Given the description of an element on the screen output the (x, y) to click on. 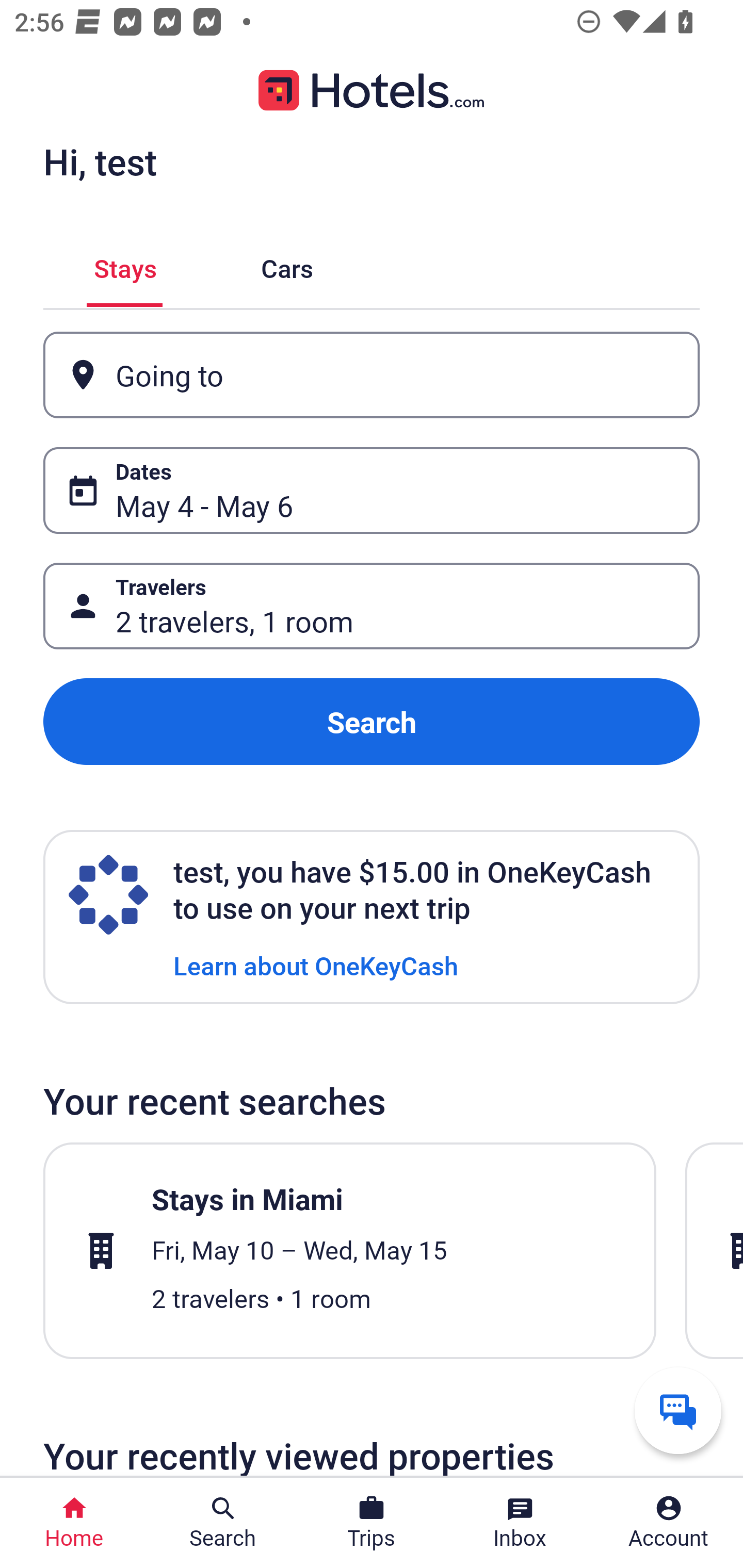
Hi, test (99, 161)
Cars (286, 265)
Going to Button (371, 375)
Dates Button May 4 - May 6 (371, 489)
Travelers Button 2 travelers, 1 room (371, 605)
Search (371, 721)
Learn about OneKeyCash Learn about OneKeyCash Link (315, 964)
Get help from a virtual agent (677, 1410)
Search Search Button (222, 1522)
Trips Trips Button (371, 1522)
Inbox Inbox Button (519, 1522)
Account Profile. Button (668, 1522)
